Given the description of an element on the screen output the (x, y) to click on. 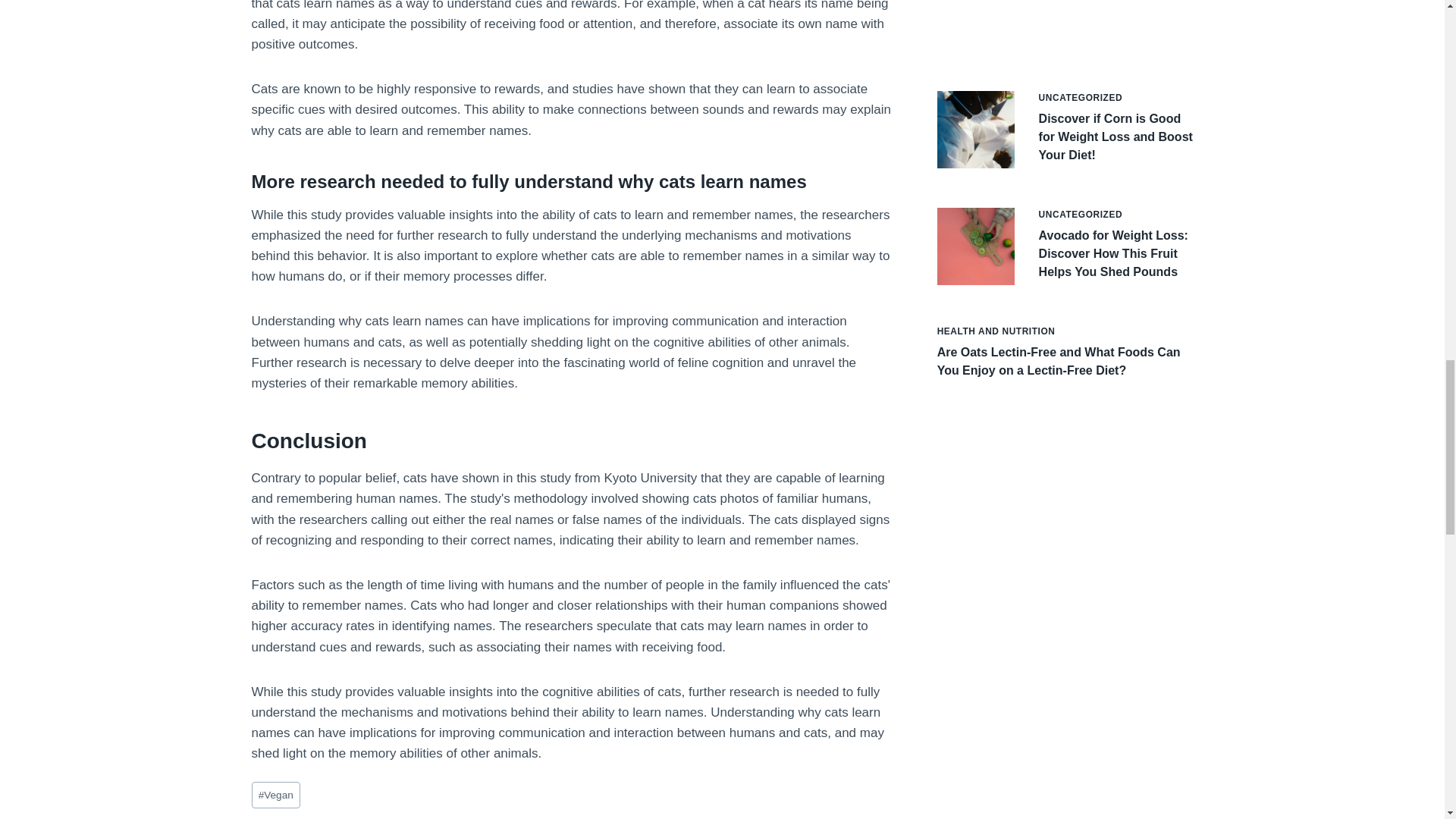
Vegan (275, 795)
